Given the description of an element on the screen output the (x, y) to click on. 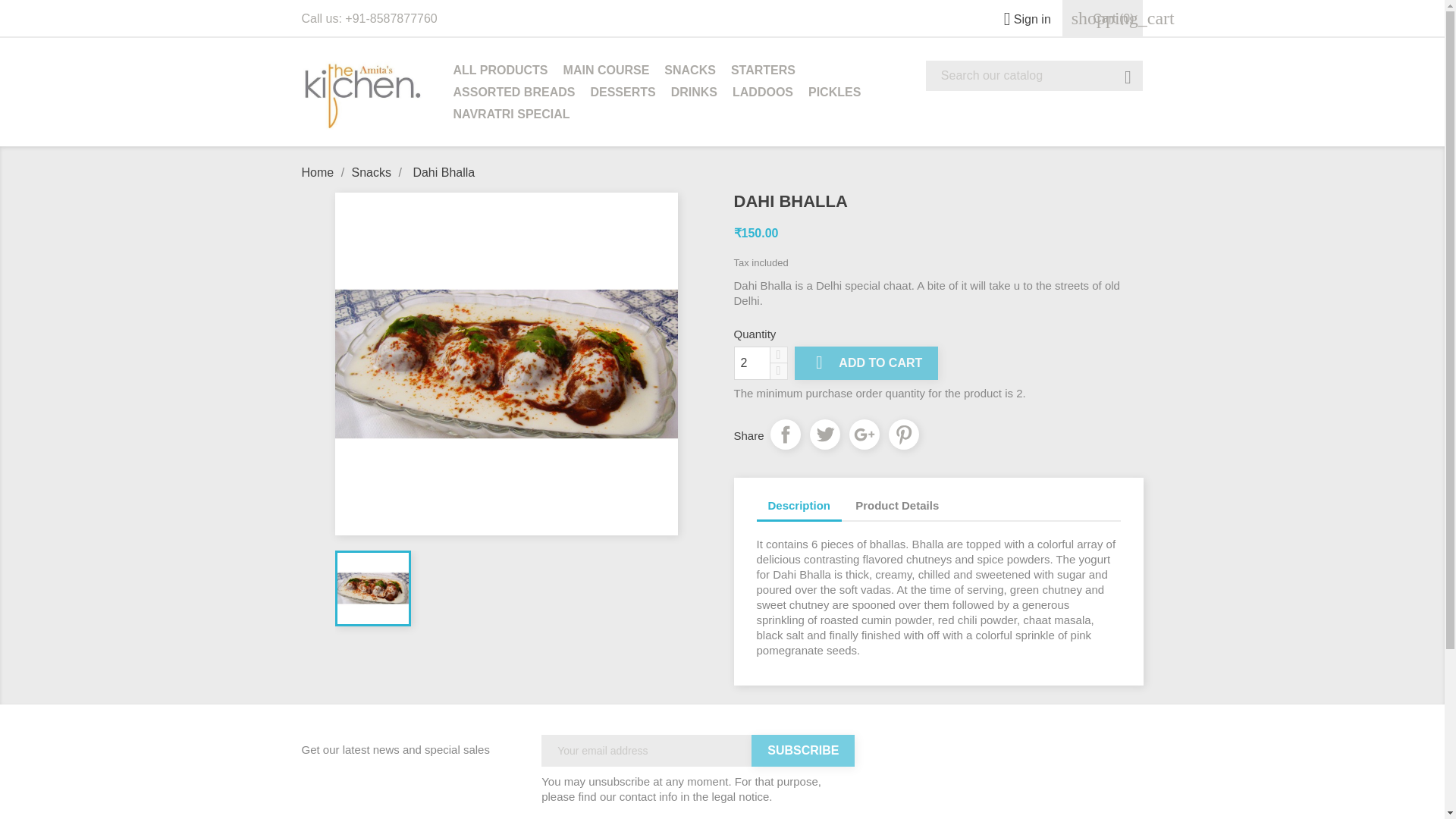
LADDOOS (762, 93)
Log in to your customer account (1020, 19)
Product Details (897, 506)
DESSERTS (622, 93)
STARTERS (763, 71)
PICKLES (833, 93)
MAIN COURSE (607, 71)
ALL PRODUCTS (500, 71)
Subscribe (802, 750)
Pinterest (903, 434)
Snacks (373, 172)
Tweet (824, 434)
NAVRATRI SPECIAL (511, 115)
ASSORTED BREADS (514, 93)
Share (785, 434)
